Given the description of an element on the screen output the (x, y) to click on. 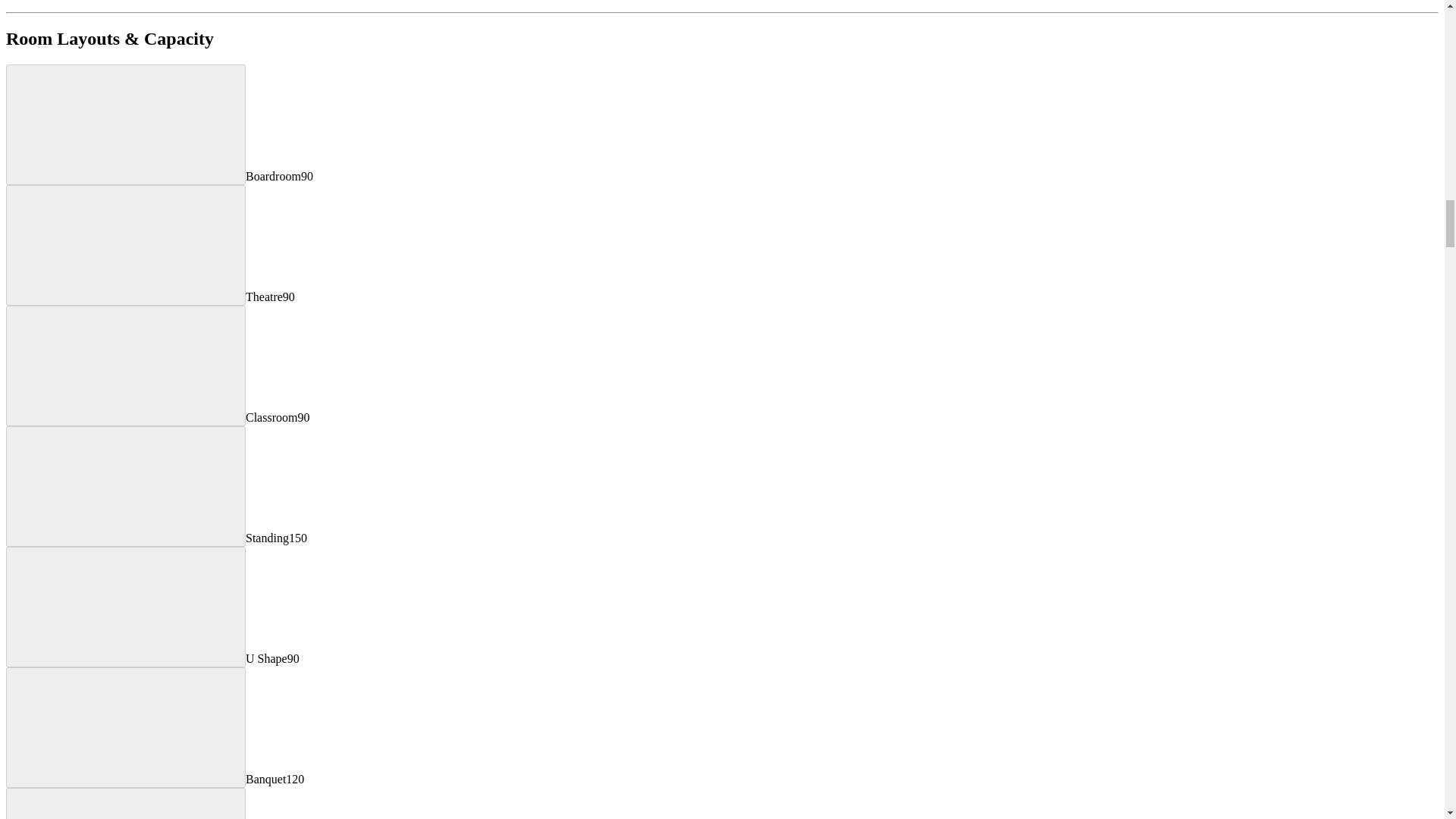
Select Cabaret layout (125, 803)
Select Theatre layout (125, 245)
Select Classroom layout (125, 365)
Select Standing layout (125, 486)
Select U Shape layout (125, 607)
Select Banquet layout (125, 727)
Select Boardroom layout (125, 124)
